Given the description of an element on the screen output the (x, y) to click on. 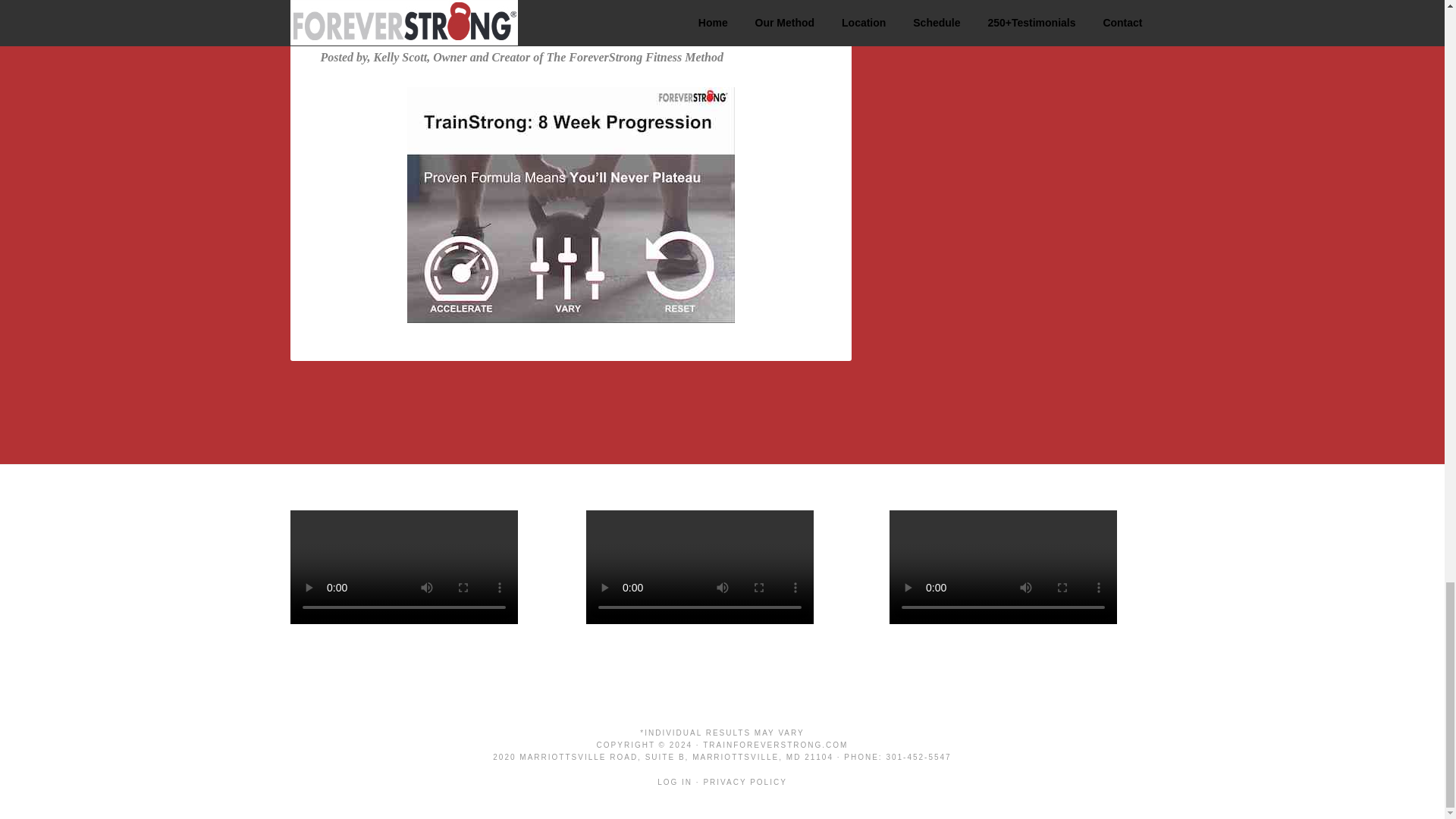
PRIVACY POLICY (744, 782)
LOG IN (675, 782)
TRAINFOREVERSTRONG.COM (775, 745)
